Given the description of an element on the screen output the (x, y) to click on. 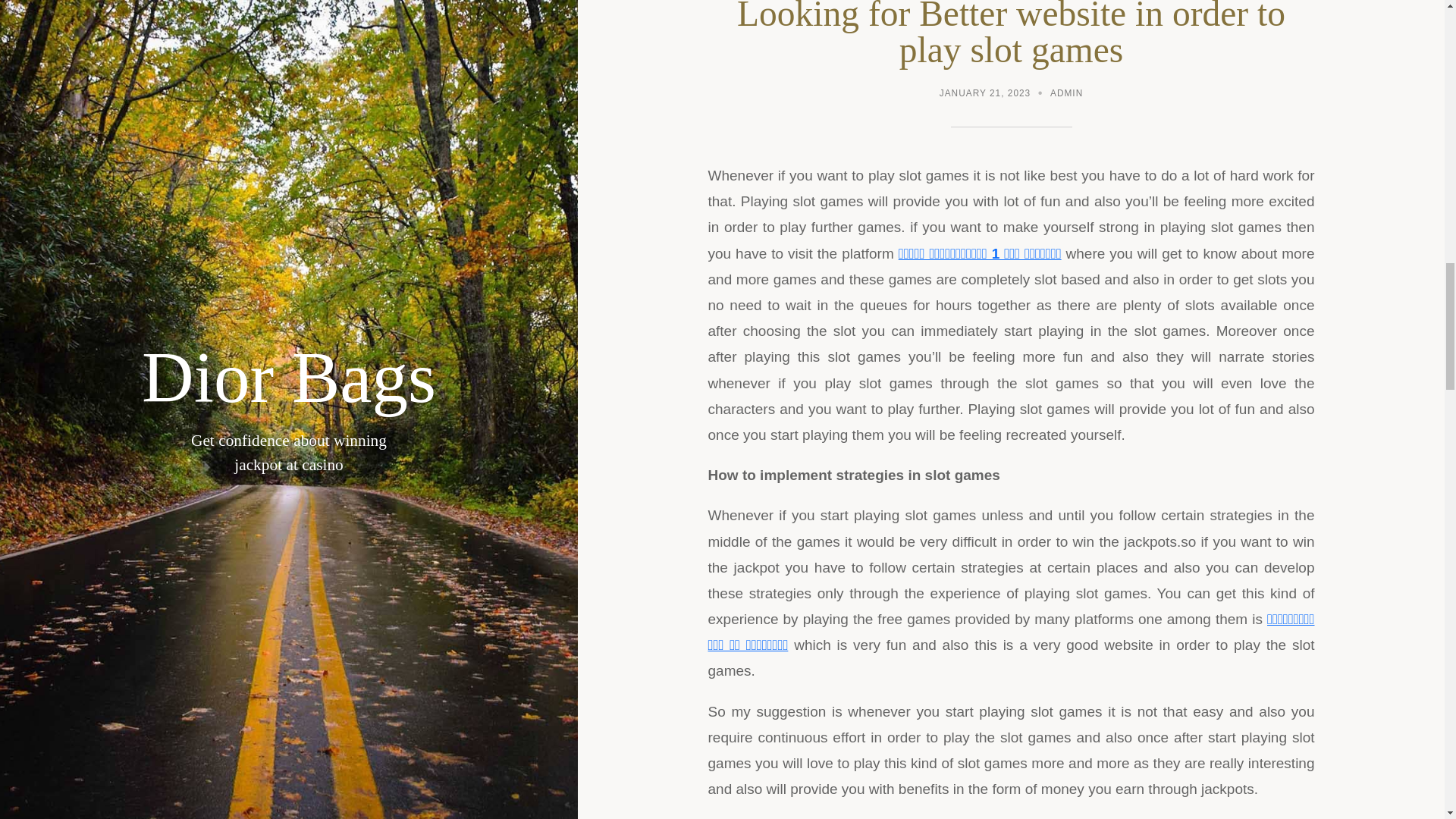
ADMIN (1066, 94)
JANUARY 21, 2023 (984, 94)
Looking for Better website in order to play slot games (1010, 34)
